Given the description of an element on the screen output the (x, y) to click on. 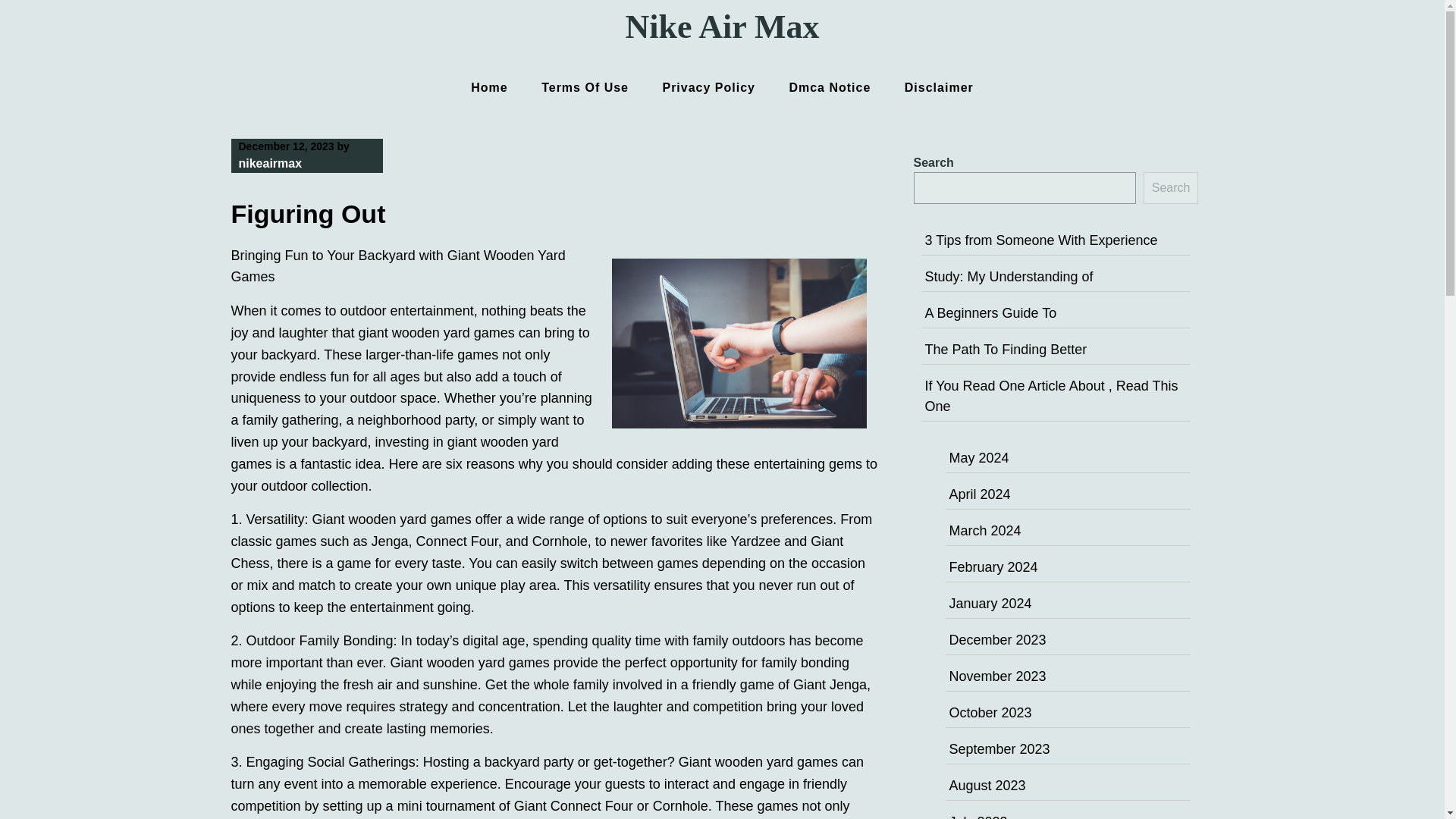
September 2023 (999, 749)
Terms Of Use (584, 87)
January 2024 (990, 603)
August 2023 (987, 785)
Home (488, 87)
Nike Air Max (722, 26)
A Beginners Guide To (990, 313)
The Path To Finding Better (1005, 349)
nikeairmax (269, 163)
Privacy Policy (708, 87)
October 2023 (990, 712)
July 2023 (978, 816)
Search (1170, 187)
March 2024 (985, 530)
3 Tips from Someone With Experience (1040, 240)
